Given the description of an element on the screen output the (x, y) to click on. 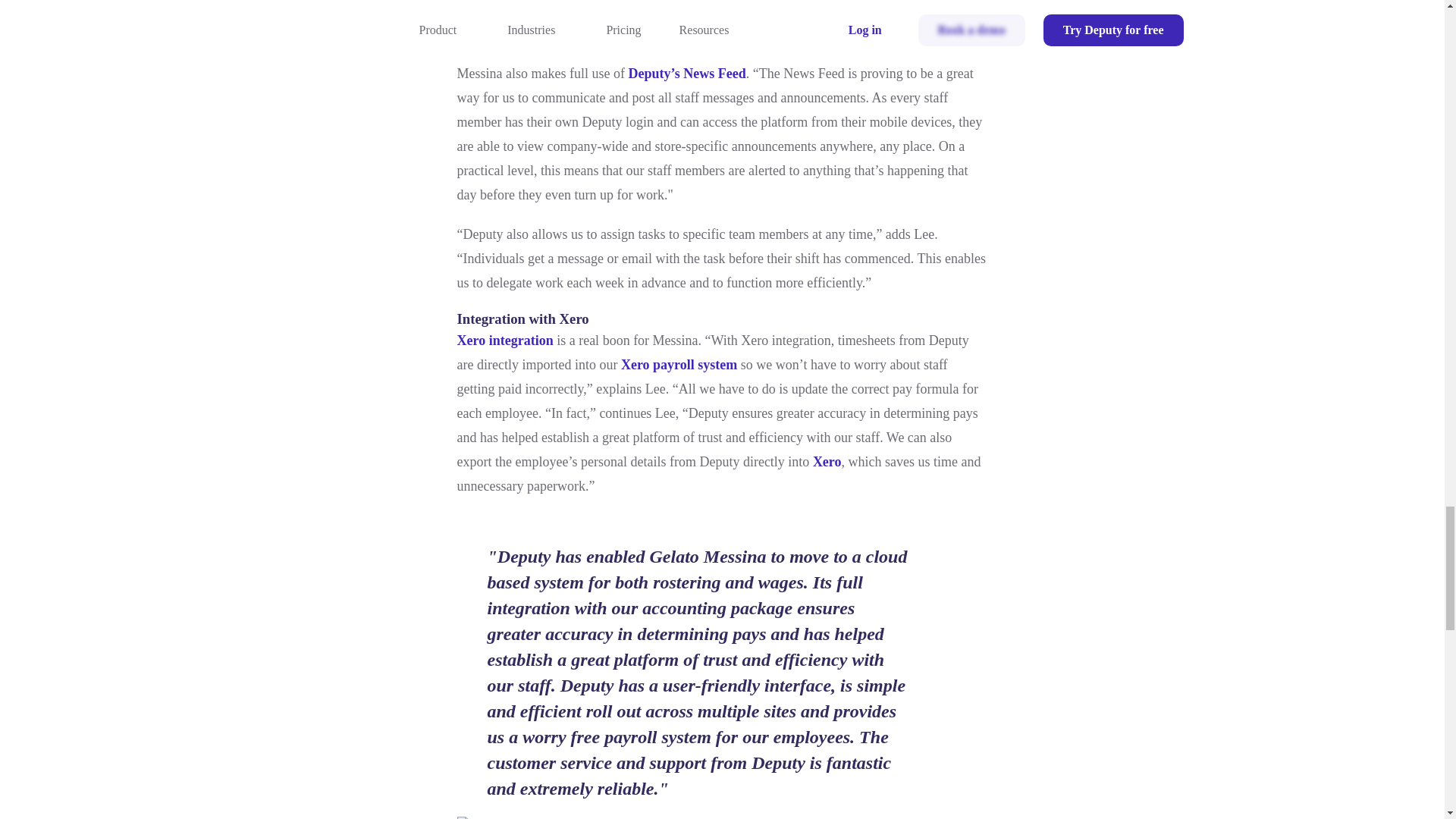
Xero integration (505, 340)
Xero payroll system (678, 364)
Xero (826, 461)
